Given the description of an element on the screen output the (x, y) to click on. 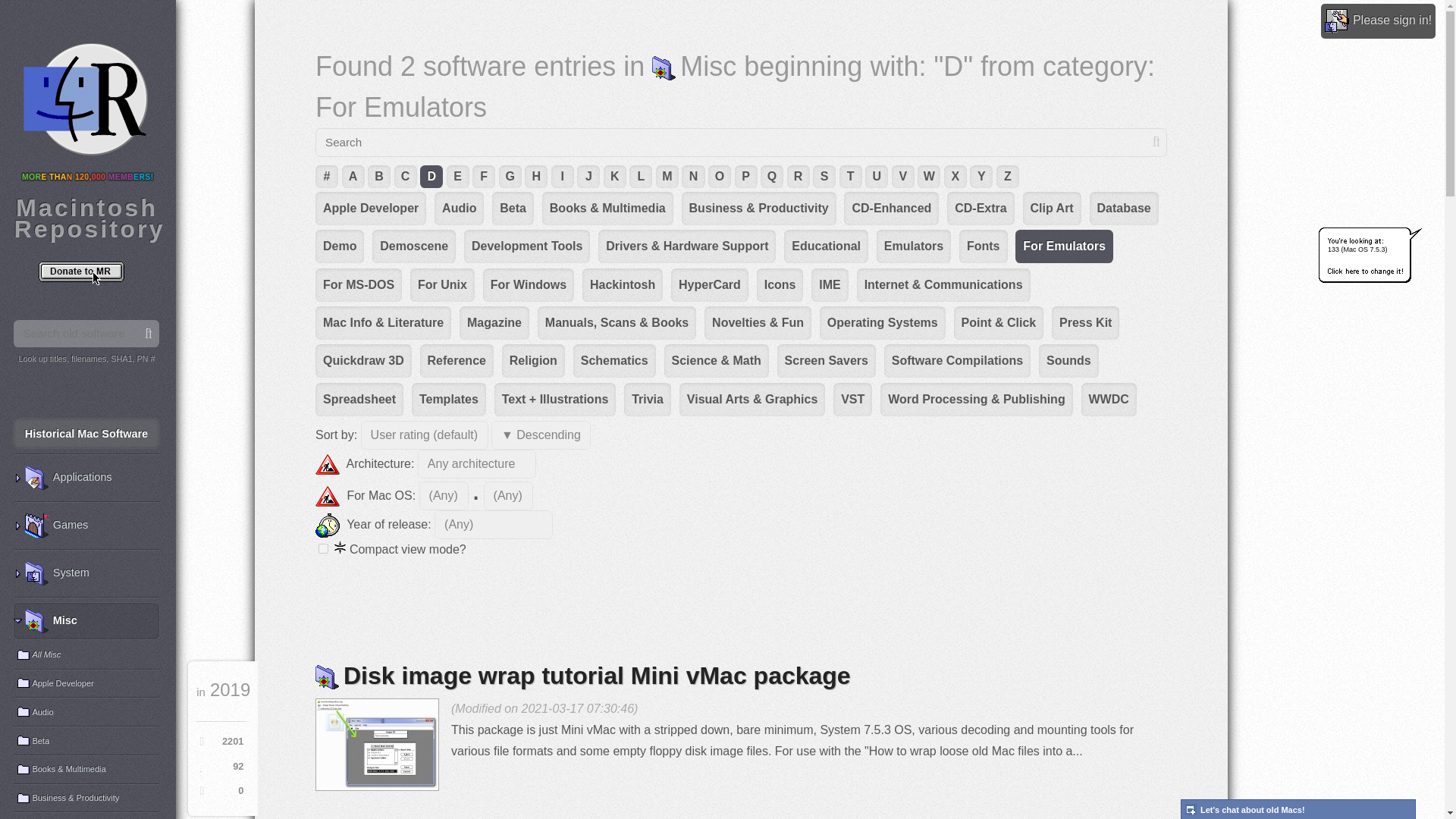
F (483, 176)
CD-Extra (980, 208)
O (718, 176)
Under construction, might not fully work yet! (327, 464)
U (876, 176)
Bot views (219, 767)
H (535, 176)
Disk image wrap tutorial Mini vMac package (377, 744)
Z (1007, 176)
M (667, 176)
B (379, 176)
Y (980, 176)
Audio (458, 208)
A (353, 176)
K (615, 176)
